Given the description of an element on the screen output the (x, y) to click on. 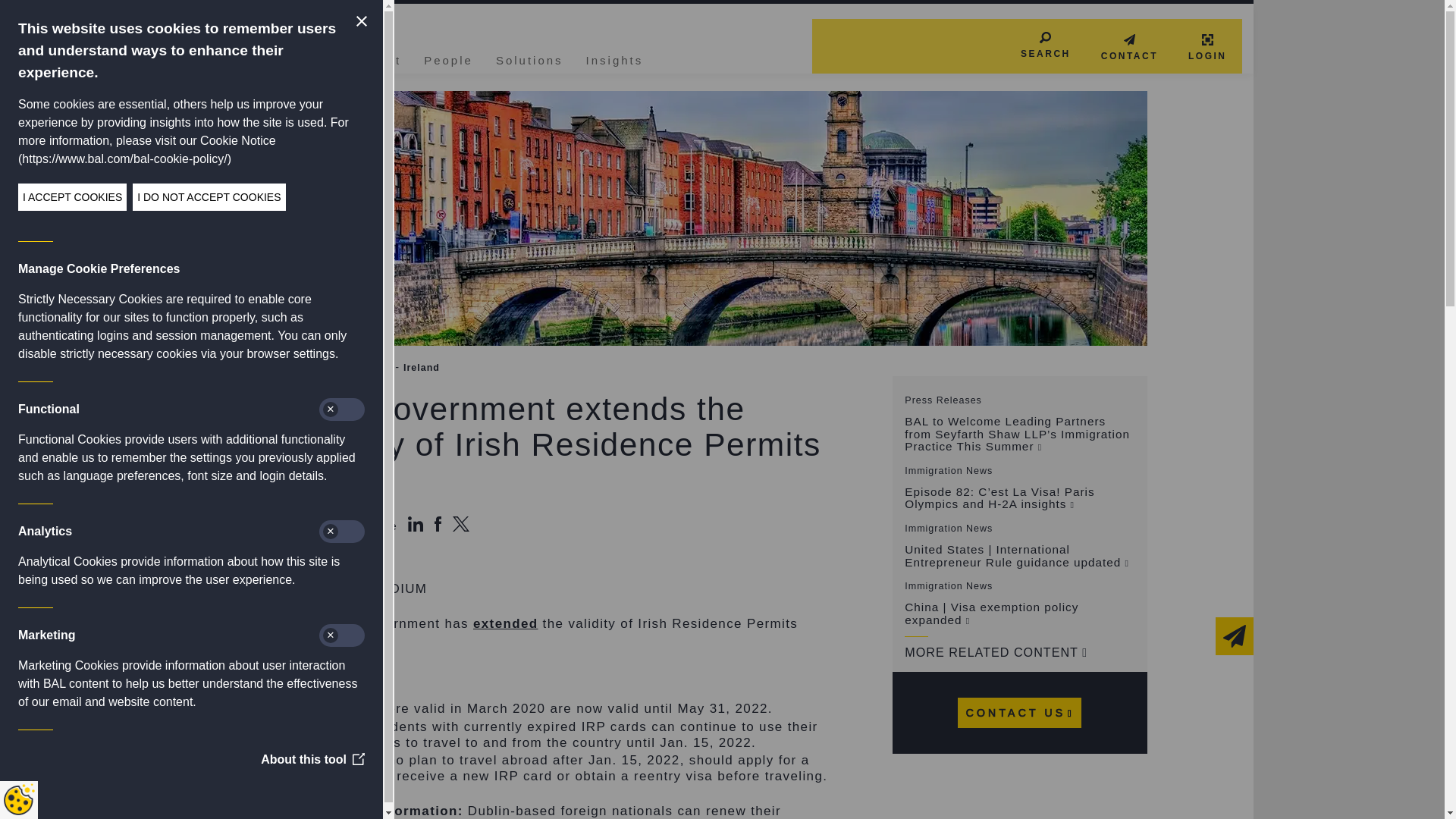
Solutions (529, 58)
People (448, 58)
About (380, 58)
I DO NOT ACCEPT COOKIES (72, 196)
Insights (614, 58)
